Given the description of an element on the screen output the (x, y) to click on. 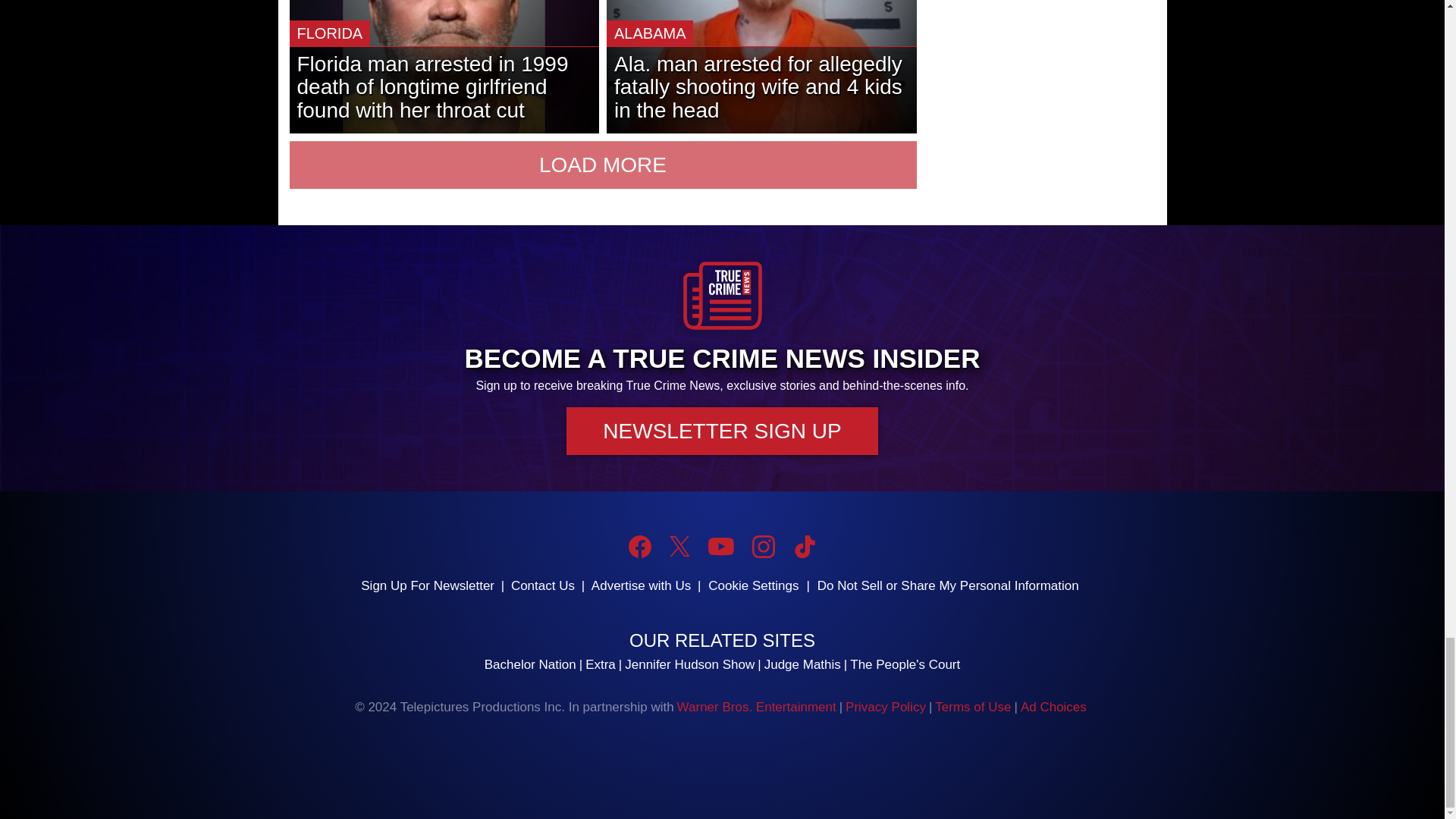
Twitter (679, 546)
Instagram (763, 546)
TikTok (804, 546)
YouTube (720, 546)
Facebook (639, 546)
